Given the description of an element on the screen output the (x, y) to click on. 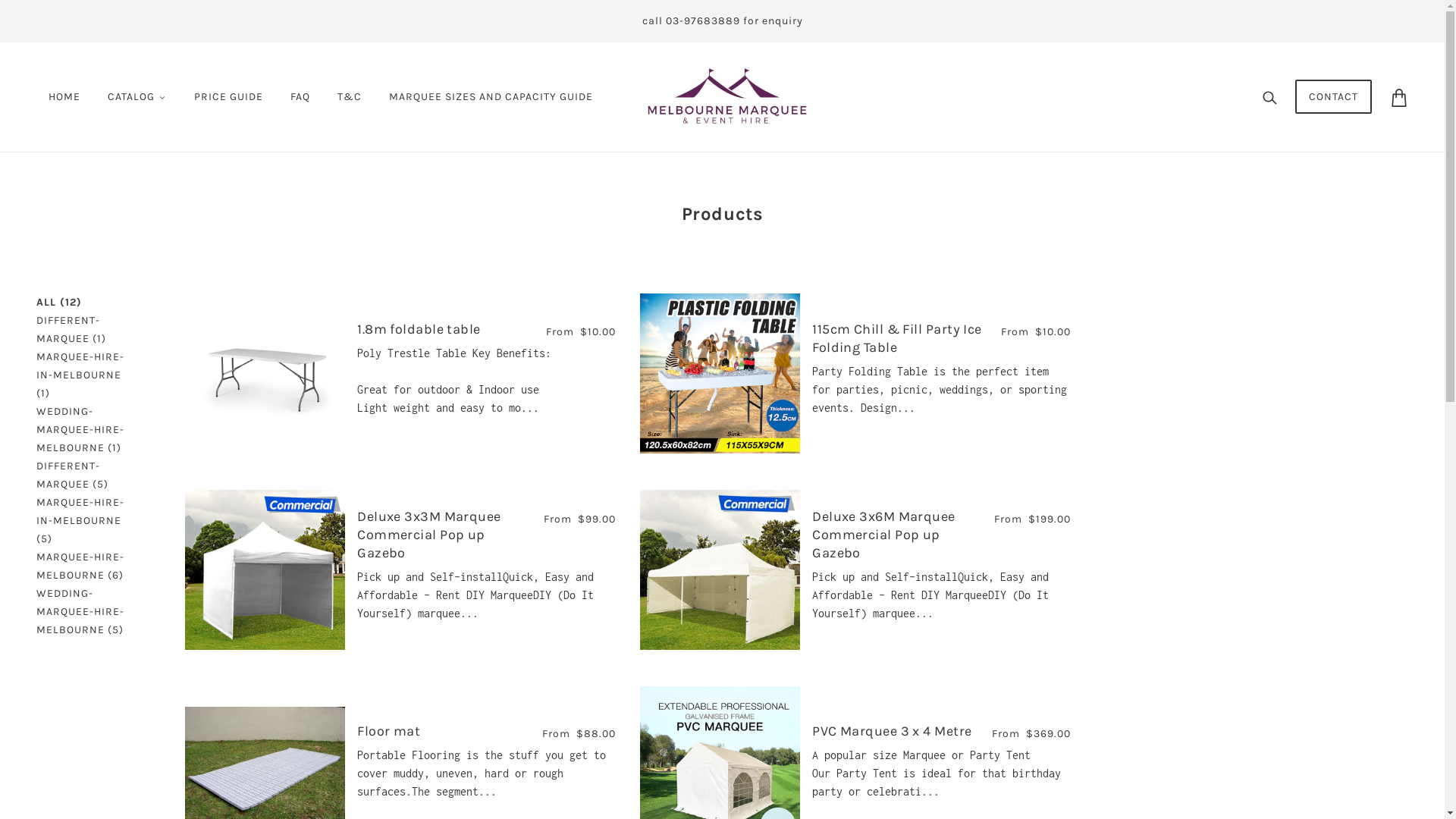
1.8m foldable table Element type: text (418, 328)
Floor mat Element type: text (388, 730)
DIFFERENT-MARQUEE (1) Element type: text (86, 329)
CONTACT Element type: text (1333, 96)
MARQUEE-HIRE-MELBOURNE (6) Element type: text (86, 566)
CATALOG Element type: text (136, 96)
HOME Element type: text (64, 96)
MARQUEE-HIRE-IN-MELBOURNE (5) Element type: text (86, 520)
T&C Element type: text (349, 96)
Deluxe 3x3M Marquee Commercial Pop up Gazebo Element type: text (429, 534)
PRICE GUIDE Element type: text (228, 96)
MARQUEE-HIRE-IN-MELBOURNE (1) Element type: text (86, 375)
115cm Chill & Fill Party Ice Folding Table Element type: text (897, 337)
WEDDING-MARQUEE-HIRE-MELBOURNE (5) Element type: text (86, 611)
call 03-97683889 for enquiry Element type: text (722, 21)
Deluxe 3x6M Marquee Commercial Pop up Gazebo Element type: text (883, 534)
DIFFERENT-MARQUEE (5) Element type: text (86, 475)
Melbourne Marquee & Event Hire Element type: hover (727, 95)
FAQ Element type: text (300, 96)
PVC Marquee 3 x 4 Metre Element type: text (891, 730)
MARQUEE SIZES AND CAPACITY GUIDE Element type: text (490, 96)
ALL (12) Element type: text (58, 302)
WEDDING-MARQUEE-HIRE-MELBOURNE (1) Element type: text (86, 429)
